Given the description of an element on the screen output the (x, y) to click on. 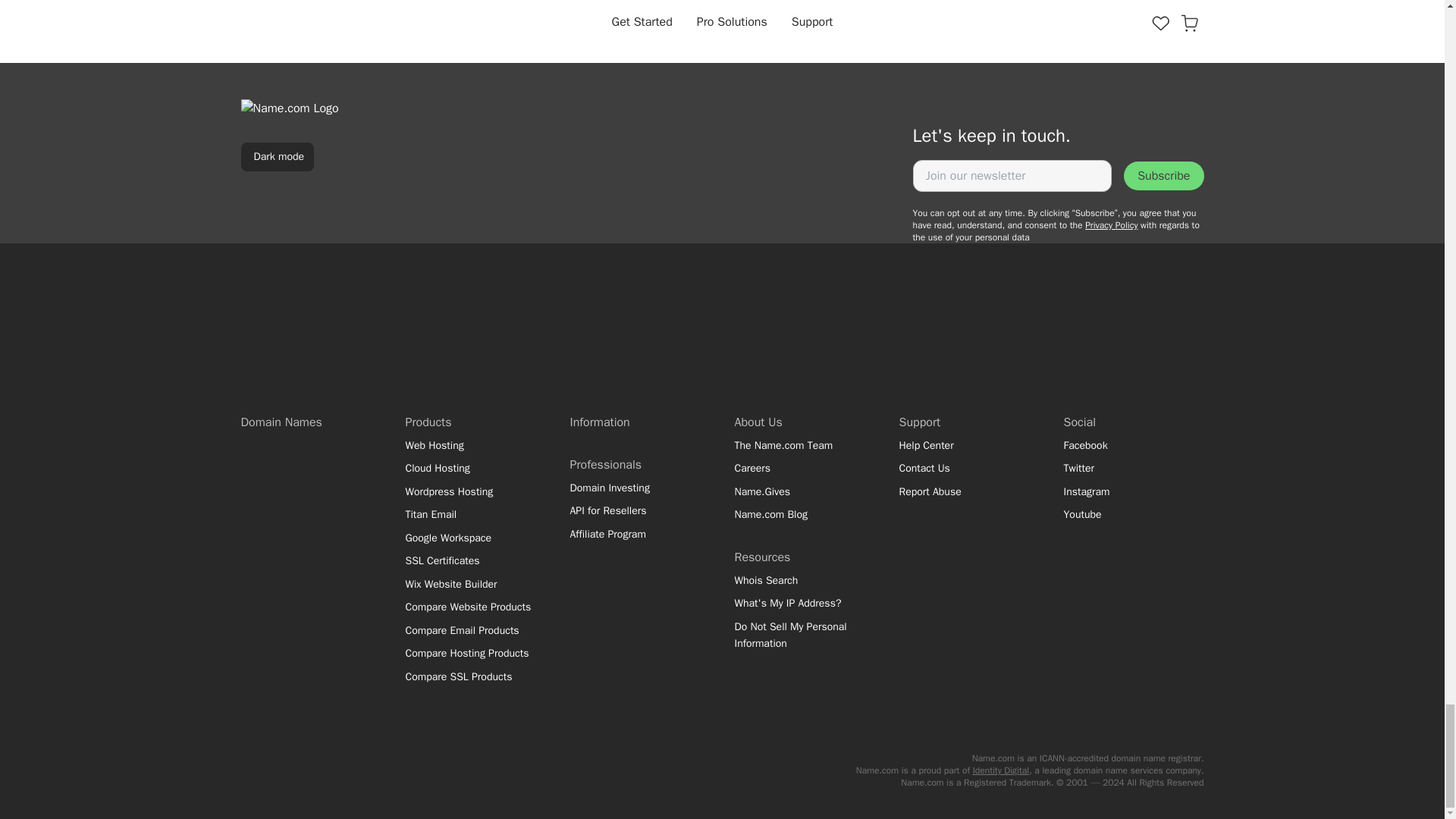
Identity Digital (1000, 770)
